Given the description of an element on the screen output the (x, y) to click on. 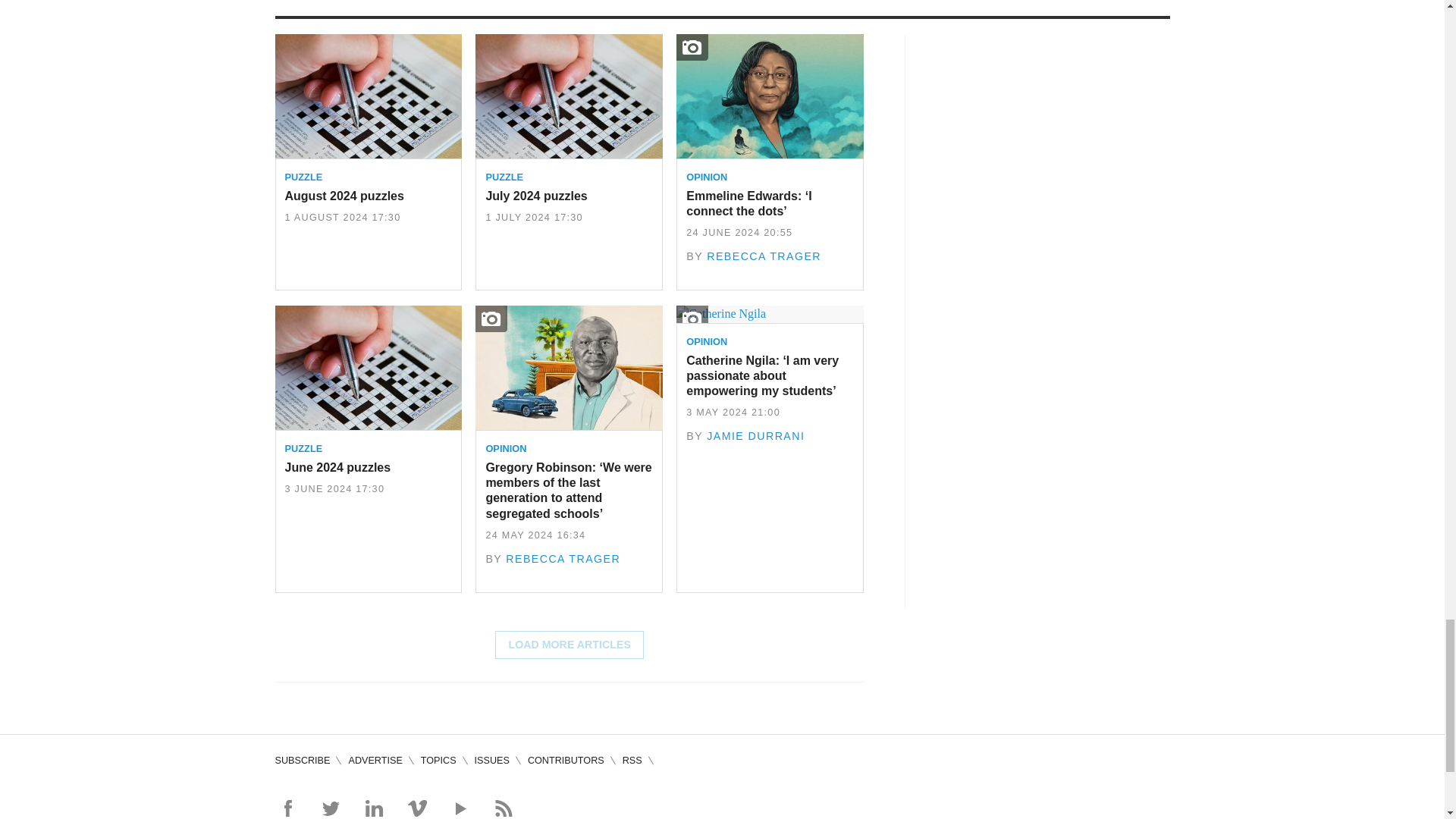
Watch on Vimeo (416, 808)
Follow on Facebook (287, 808)
Connect on Linked in (373, 808)
Follow on Twitter (330, 808)
